Given the description of an element on the screen output the (x, y) to click on. 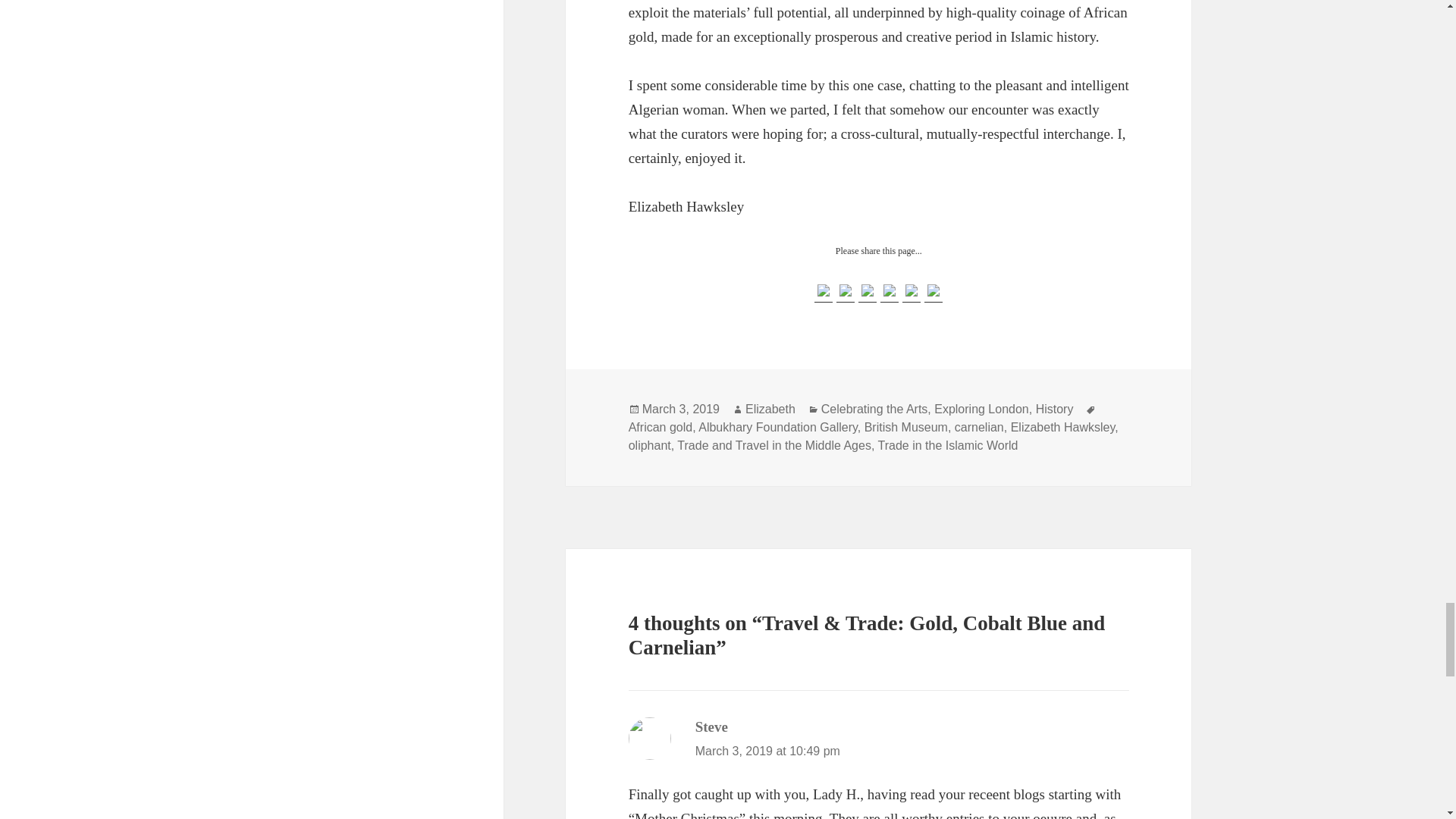
Pin it with Pinterest (889, 290)
Share on Reddit (867, 290)
Share on Twitter (845, 290)
Pin it with Pinterest (889, 293)
Share on Reddit (867, 293)
Share on tumblr (911, 290)
Share on Facebook (822, 293)
Share by email (933, 290)
Share on Facebook (822, 290)
Share on tumblr (911, 293)
